Given the description of an element on the screen output the (x, y) to click on. 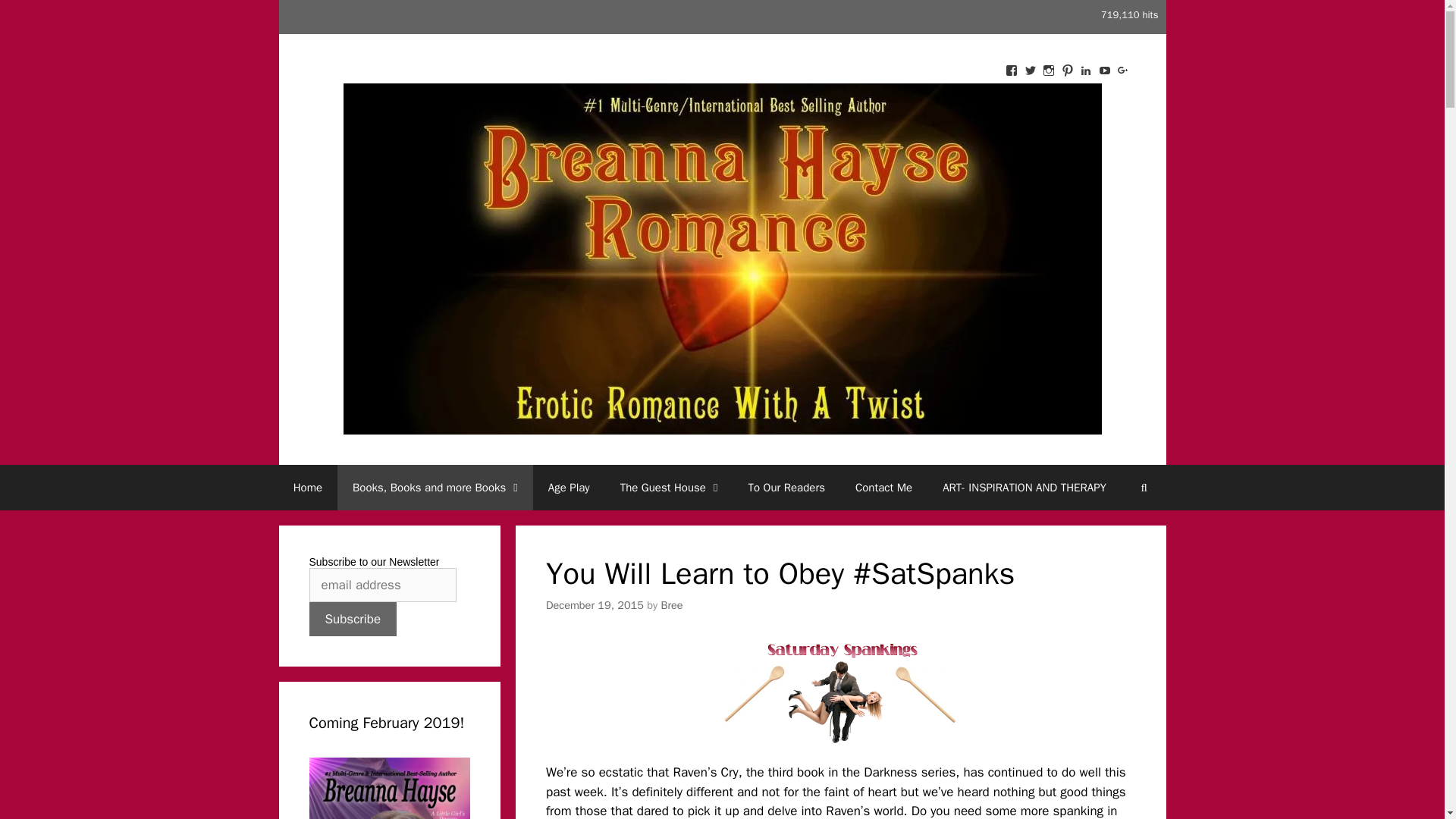
Twitter (1029, 69)
12:00 am (594, 604)
Pinterest (1067, 69)
Search (1143, 487)
View all posts by Bree (671, 604)
Contact Me (883, 487)
December 19, 2015 (594, 604)
Age Play (568, 487)
Breanna Hayse Romance (721, 258)
Bree (671, 604)
Home (307, 487)
ART- INSPIRATION AND THERAPY (1024, 487)
To Our Readers (786, 487)
Subscribe (352, 618)
Facebook (1011, 69)
